Given the description of an element on the screen output the (x, y) to click on. 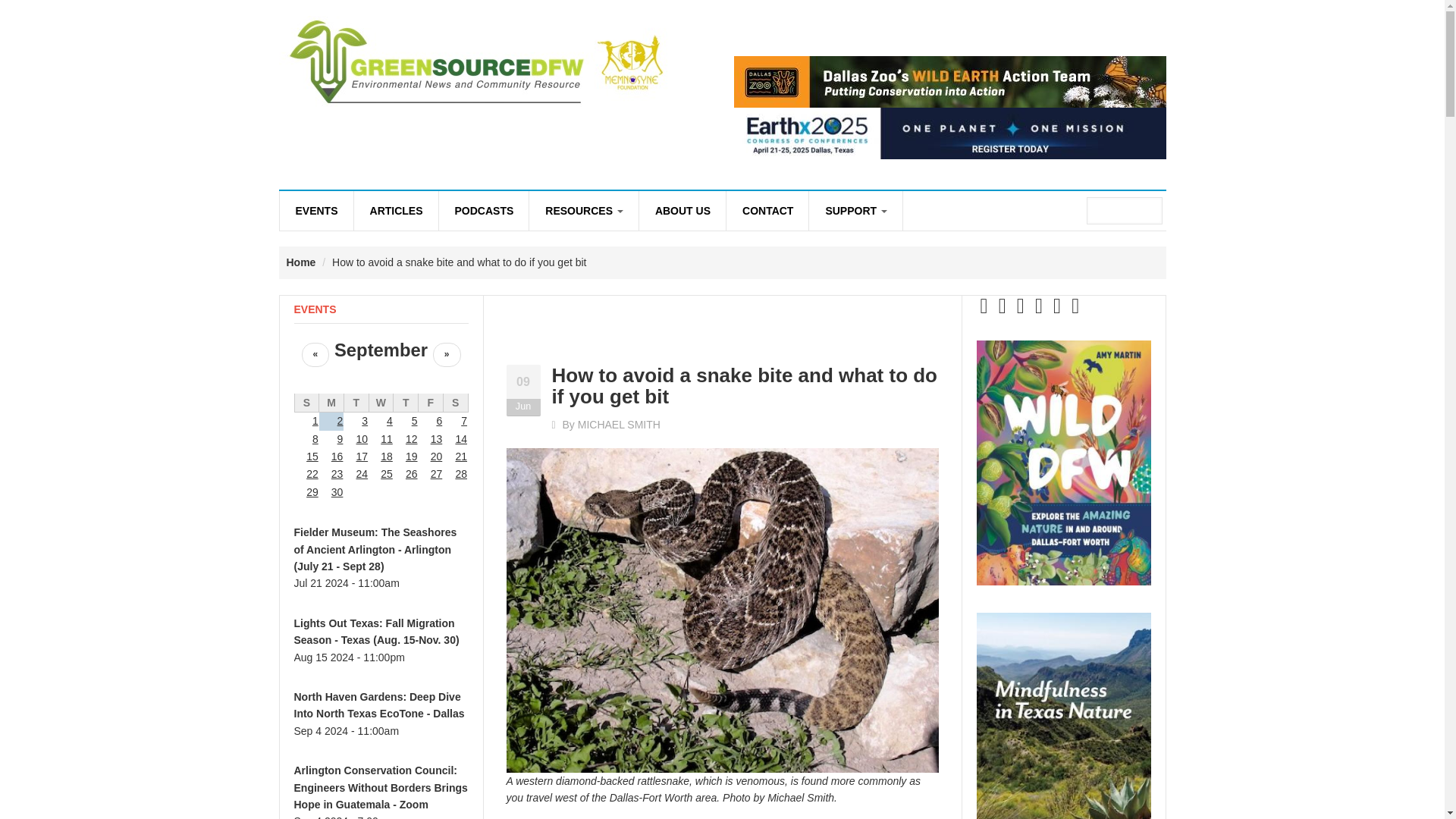
Search (1149, 211)
SUPPORT (855, 210)
Home (300, 262)
ARTICLES (395, 210)
Home (475, 59)
EVENTS (315, 210)
Navigate to previous month (315, 354)
RESOURCES (584, 210)
CONTACT (767, 210)
How to avoid a snake bite and what to do if you get bit (744, 385)
